Given the description of an element on the screen output the (x, y) to click on. 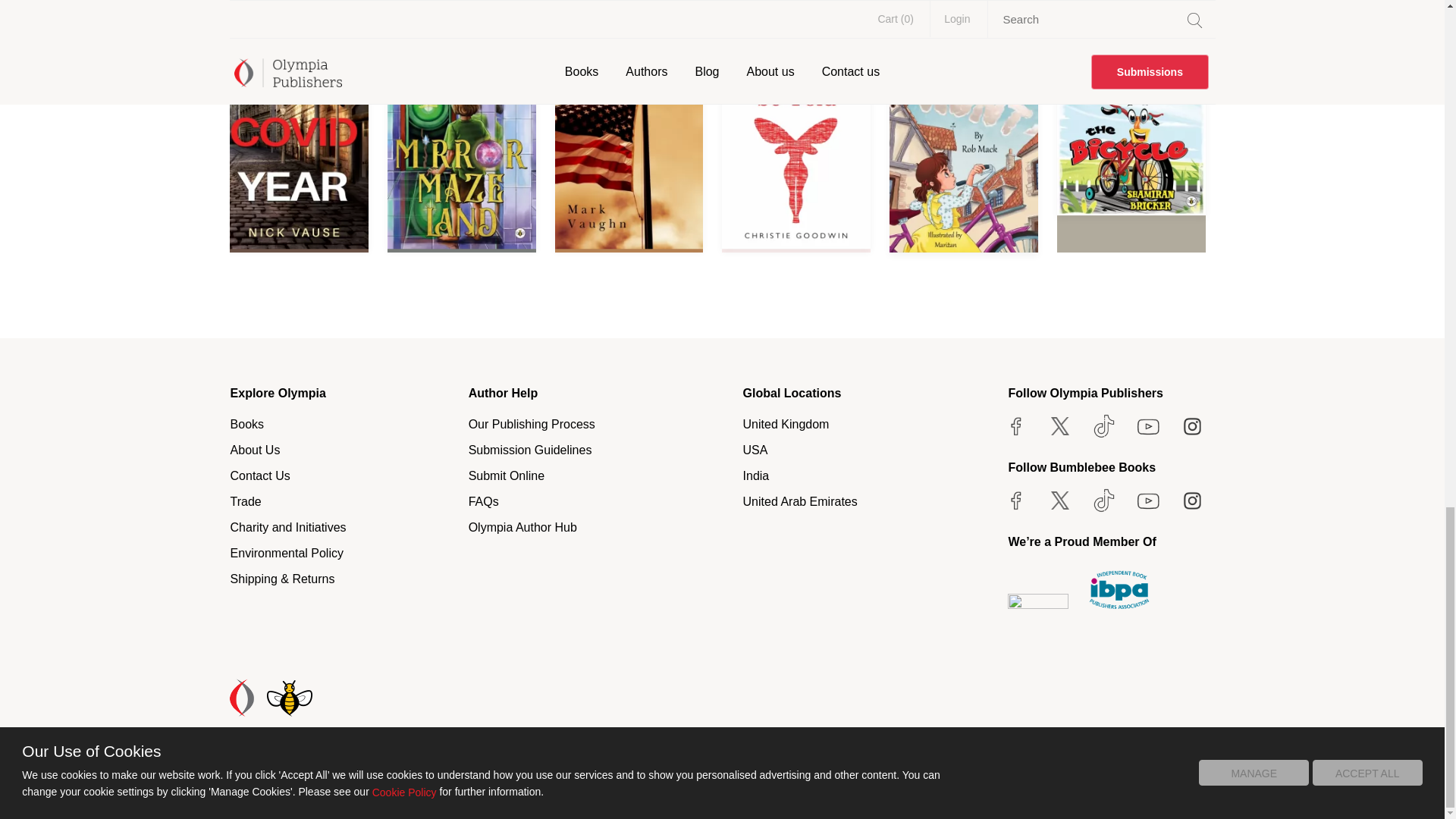
Follow us on TikTok (1103, 426)
Follow Bumblebee on Twitter (1059, 500)
Bumblebee Youtube Channel (1148, 500)
Follow Bumblebee on Instagram (1191, 500)
Follow us on Instagram (1191, 426)
Follow us on Twitter (1059, 426)
Like Us on Facebook (1015, 426)
Follow on Tiktok (1103, 500)
Our Youtube Channel (1148, 426)
Like Bumblebee on Facebook (1015, 500)
